Given the description of an element on the screen output the (x, y) to click on. 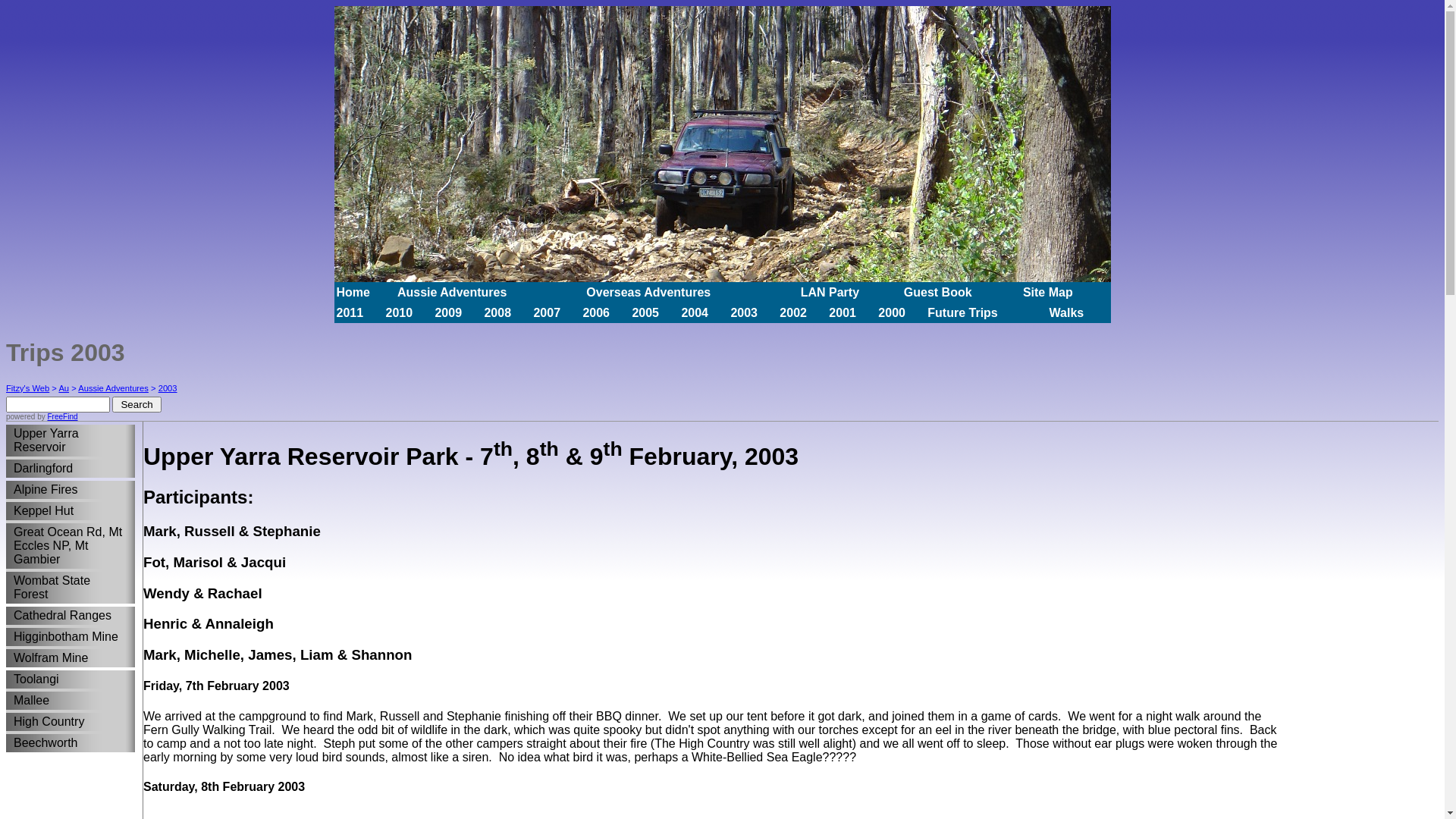
FreeFind Element type: text (62, 416)
2007 Element type: text (546, 312)
2006 Element type: text (595, 312)
Keppel Hut Element type: text (66, 511)
Rocky Track, Toolangi Element type: hover (721, 144)
Wombat State Forest Element type: text (66, 587)
Walks Element type: text (1066, 312)
Guest Book Element type: text (937, 291)
Alpine Fires Element type: text (66, 489)
2008 Element type: text (497, 312)
Overseas Adventures Element type: text (648, 291)
2004 Element type: text (694, 312)
Site Map Element type: text (1047, 291)
Au Element type: text (63, 387)
2000 Element type: text (891, 312)
Cathedral Ranges Element type: text (66, 615)
Home Element type: text (353, 291)
Higginbotham Mine Element type: text (66, 636)
Beechworth Element type: text (66, 743)
2010 Element type: text (398, 312)
High Country Element type: text (66, 721)
Aussie Adventures Element type: text (451, 291)
2003 Element type: text (743, 312)
Aussie Adventures Element type: text (113, 387)
Wolfram Mine Element type: text (66, 658)
Darlingford Element type: text (66, 468)
LAN Party Element type: text (829, 291)
2005 Element type: text (644, 312)
Toolangi Element type: text (66, 679)
Upper Yarra Reservoir Element type: text (66, 440)
Mallee Element type: text (66, 700)
2002 Element type: text (792, 312)
2001 Element type: text (842, 312)
Great Ocean Rd, Mt Eccles NP, Mt Gambier Element type: text (66, 545)
Fitzy's Web Element type: text (27, 387)
2011 Element type: text (350, 312)
2003 Element type: text (167, 387)
2009 Element type: text (447, 312)
Future Trips Element type: text (962, 312)
